Given the description of an element on the screen output the (x, y) to click on. 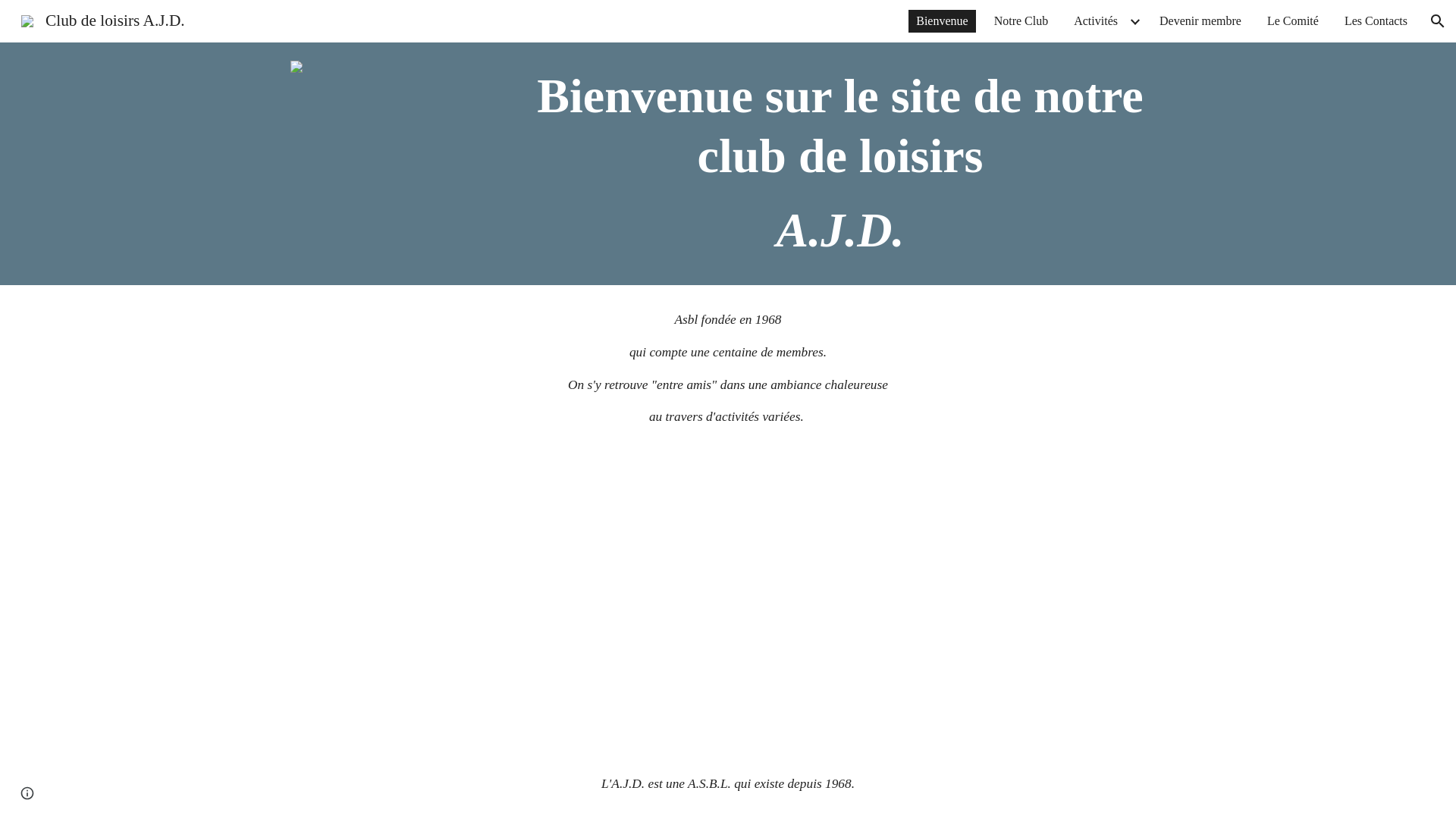
Club de loisirs A.J.D. Element type: text (103, 19)
Devenir membre Element type: text (1199, 20)
Bienvenue Element type: text (941, 20)
Expand/Collapse Element type: hover (1134, 20)
Les Contacts Element type: text (1375, 20)
Notre Club Element type: text (1021, 20)
